Given the description of an element on the screen output the (x, y) to click on. 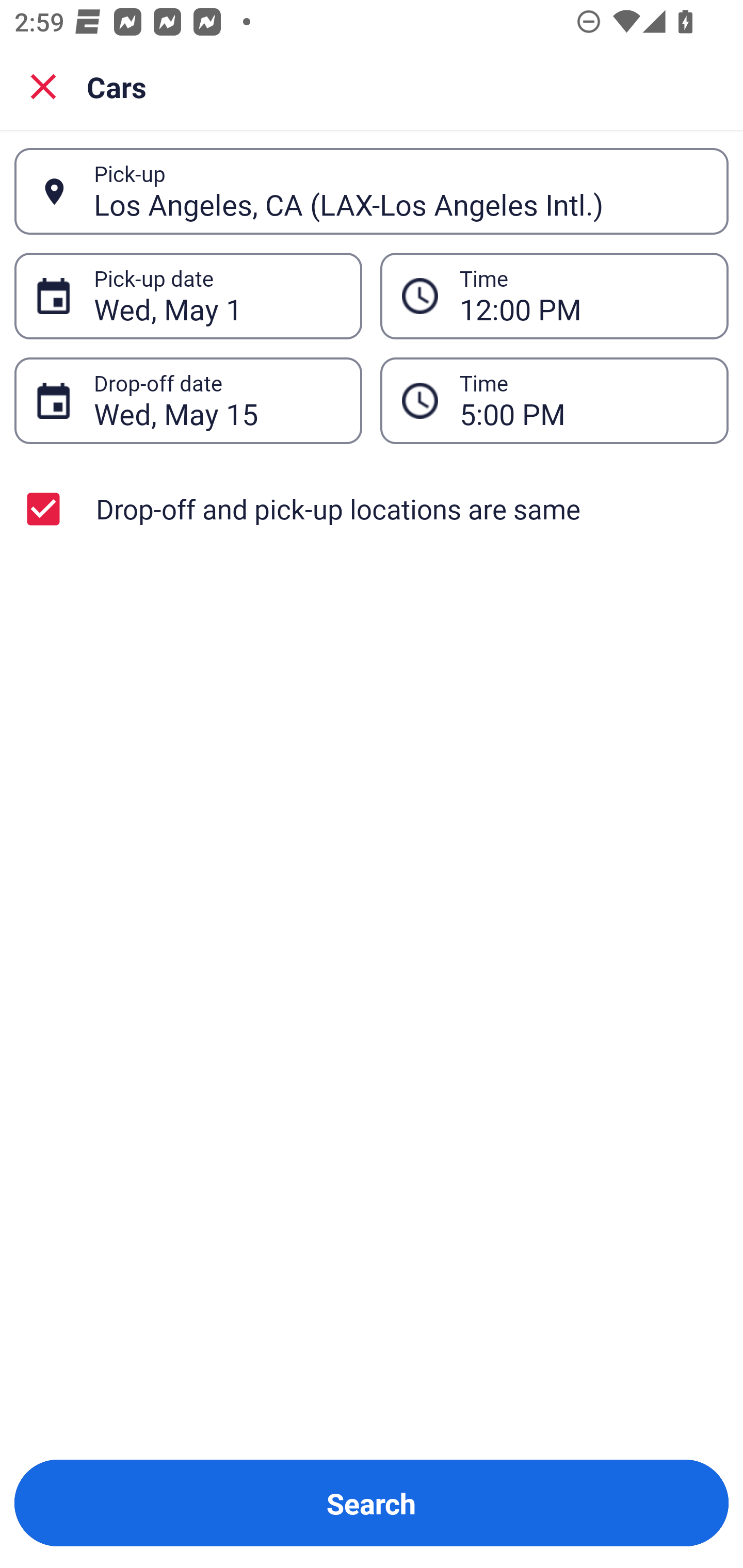
Close search screen (43, 86)
Los Angeles, CA (LAX-Los Angeles Intl.) Pick-up (371, 191)
Los Angeles, CA (LAX-Los Angeles Intl.) (399, 191)
Wed, May 1 Pick-up date (188, 295)
12:00 PM (554, 295)
Wed, May 1 (216, 296)
12:00 PM (582, 296)
Wed, May 15 Drop-off date (188, 400)
5:00 PM (554, 400)
Wed, May 15 (216, 400)
5:00 PM (582, 400)
Drop-off and pick-up locations are same (371, 508)
Search Button Search (371, 1502)
